Given the description of an element on the screen output the (x, y) to click on. 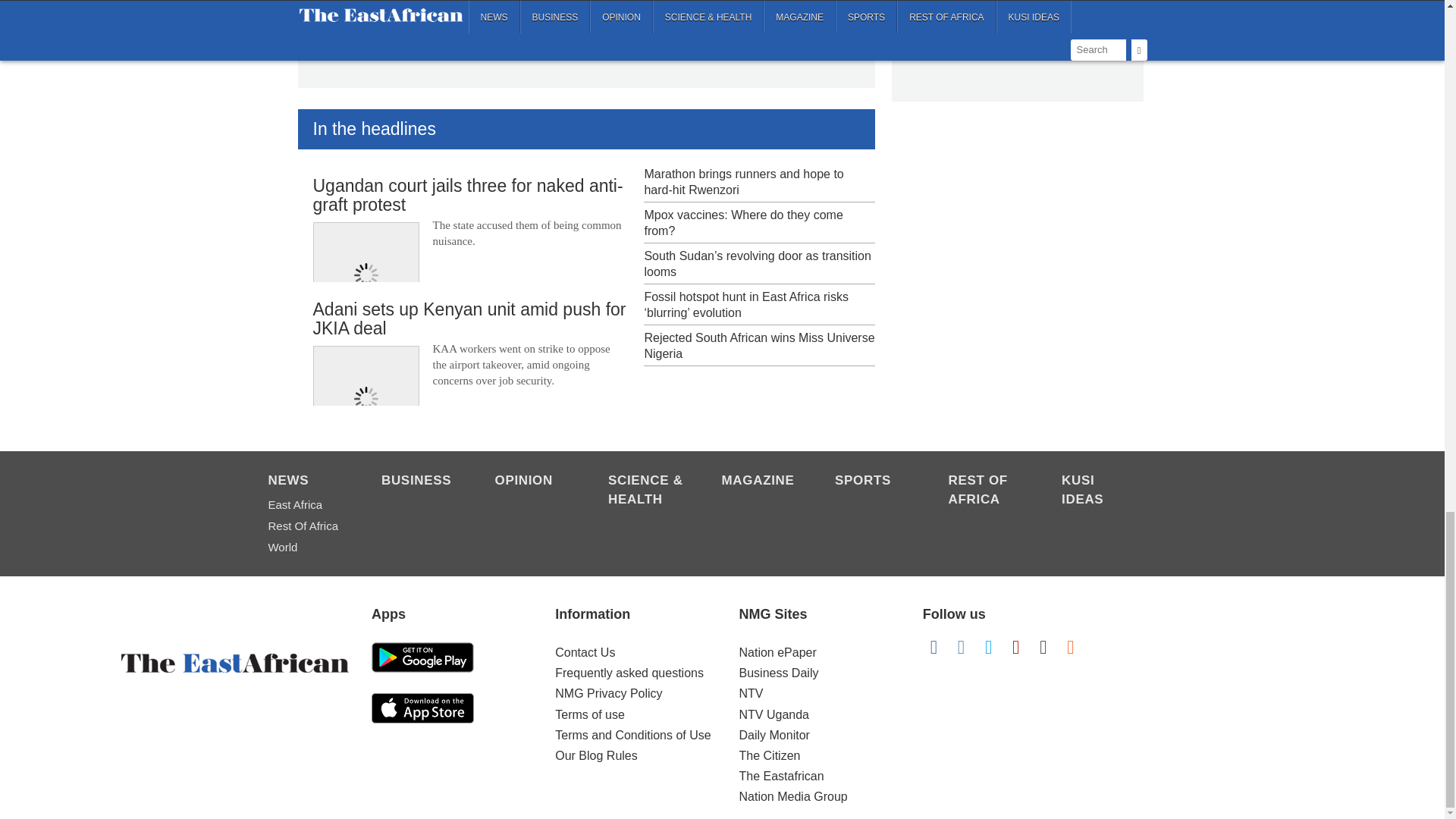
NMG Privacy Policy (608, 693)
News (306, 481)
Rest of Africa (306, 526)
Rest of Africa (987, 491)
Sports (873, 481)
KUSI IDEAS (1099, 491)
Opinion (533, 481)
East Africa (306, 504)
Magazine (760, 481)
Frequently asked questions (628, 672)
